Given the description of an element on the screen output the (x, y) to click on. 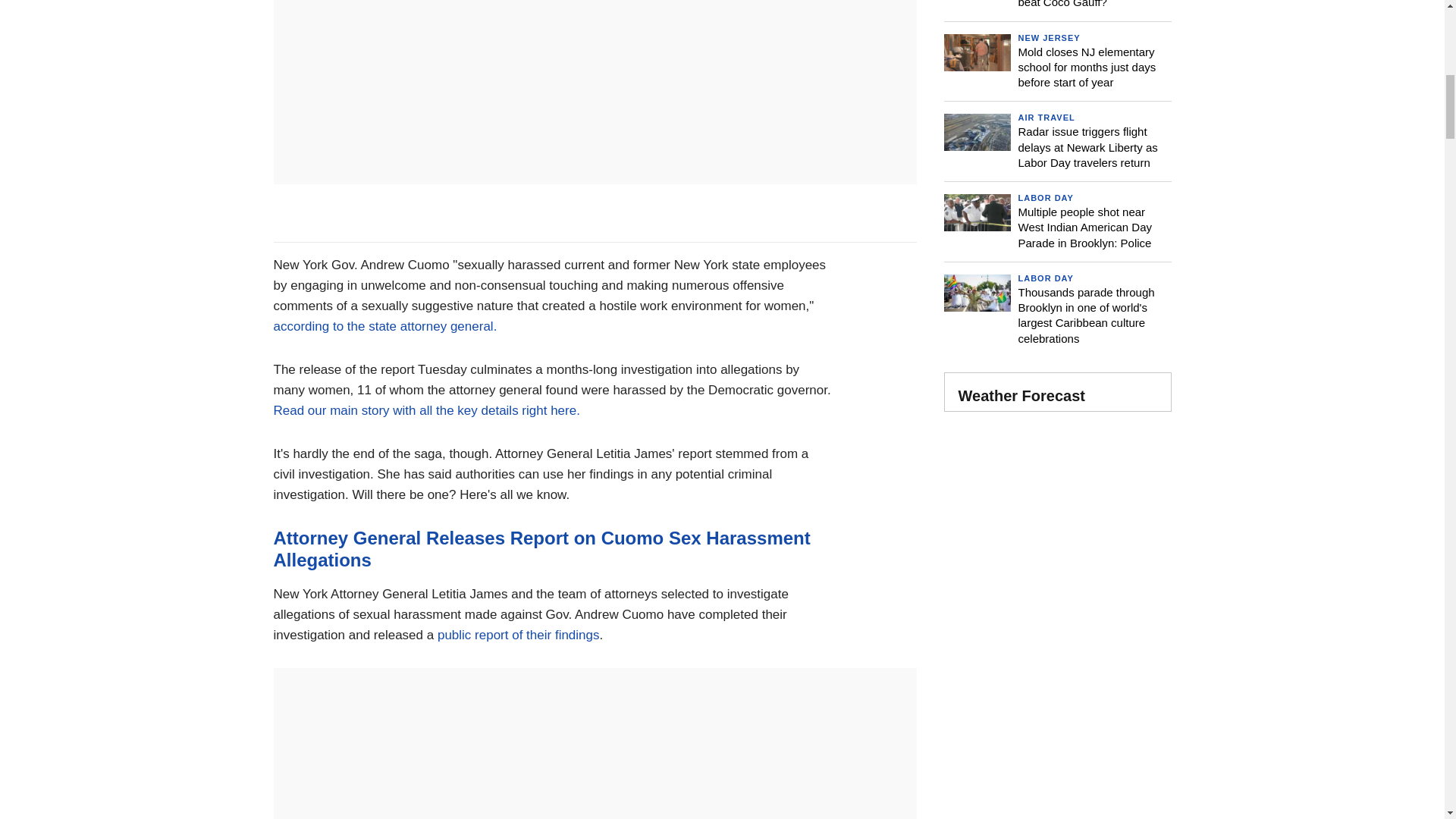
public report of their findings (518, 635)
Read our main story with all the key details right here. (426, 410)
according to the state attorney general. (384, 326)
